Given the description of an element on the screen output the (x, y) to click on. 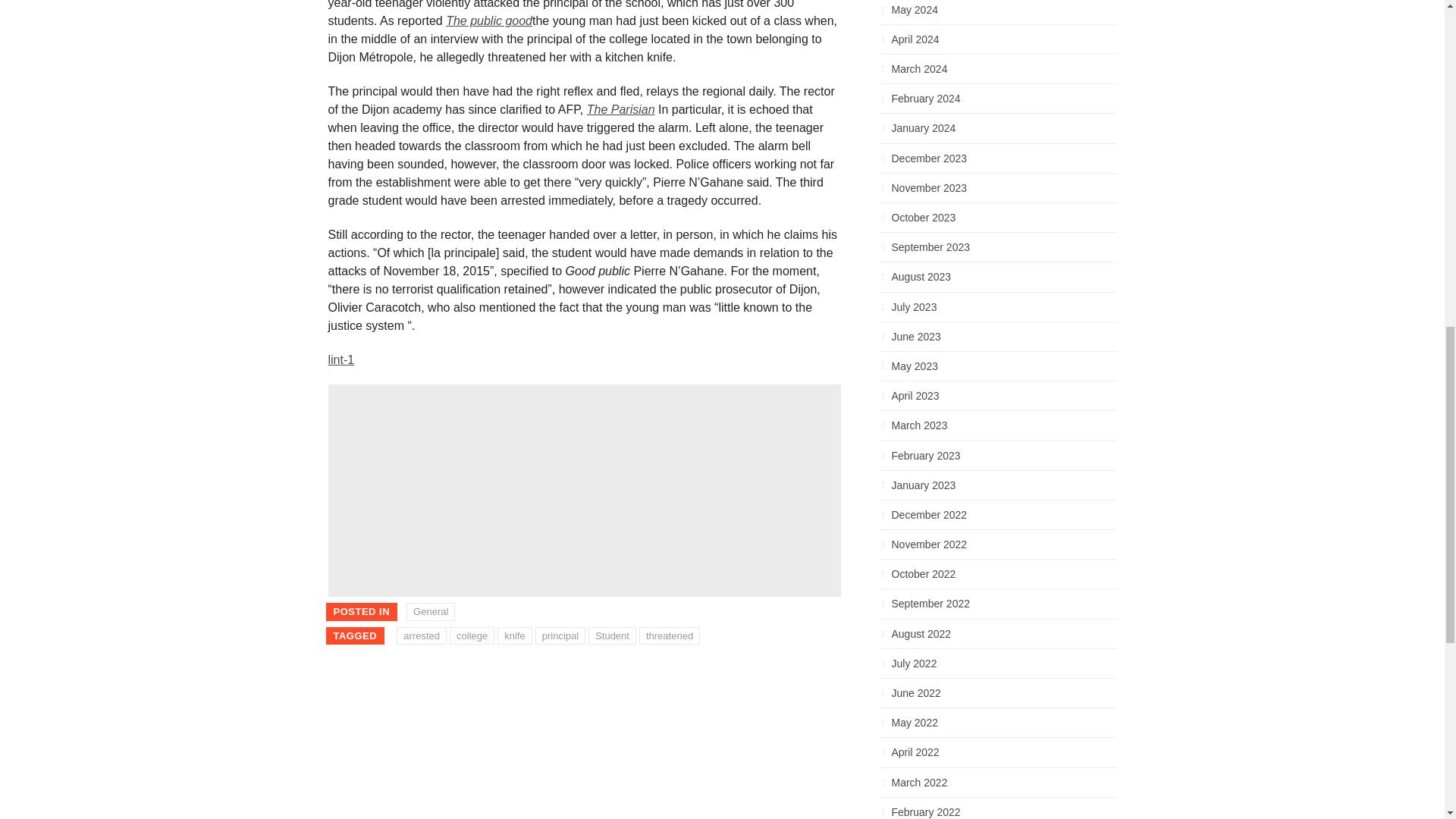
General (430, 611)
The public good (488, 20)
arrested (421, 636)
lint-1 (340, 359)
knife (514, 636)
The Parisian (620, 109)
college (472, 636)
Student (612, 636)
Advertisement (583, 490)
threatened (669, 636)
principal (560, 636)
